Given the description of an element on the screen output the (x, y) to click on. 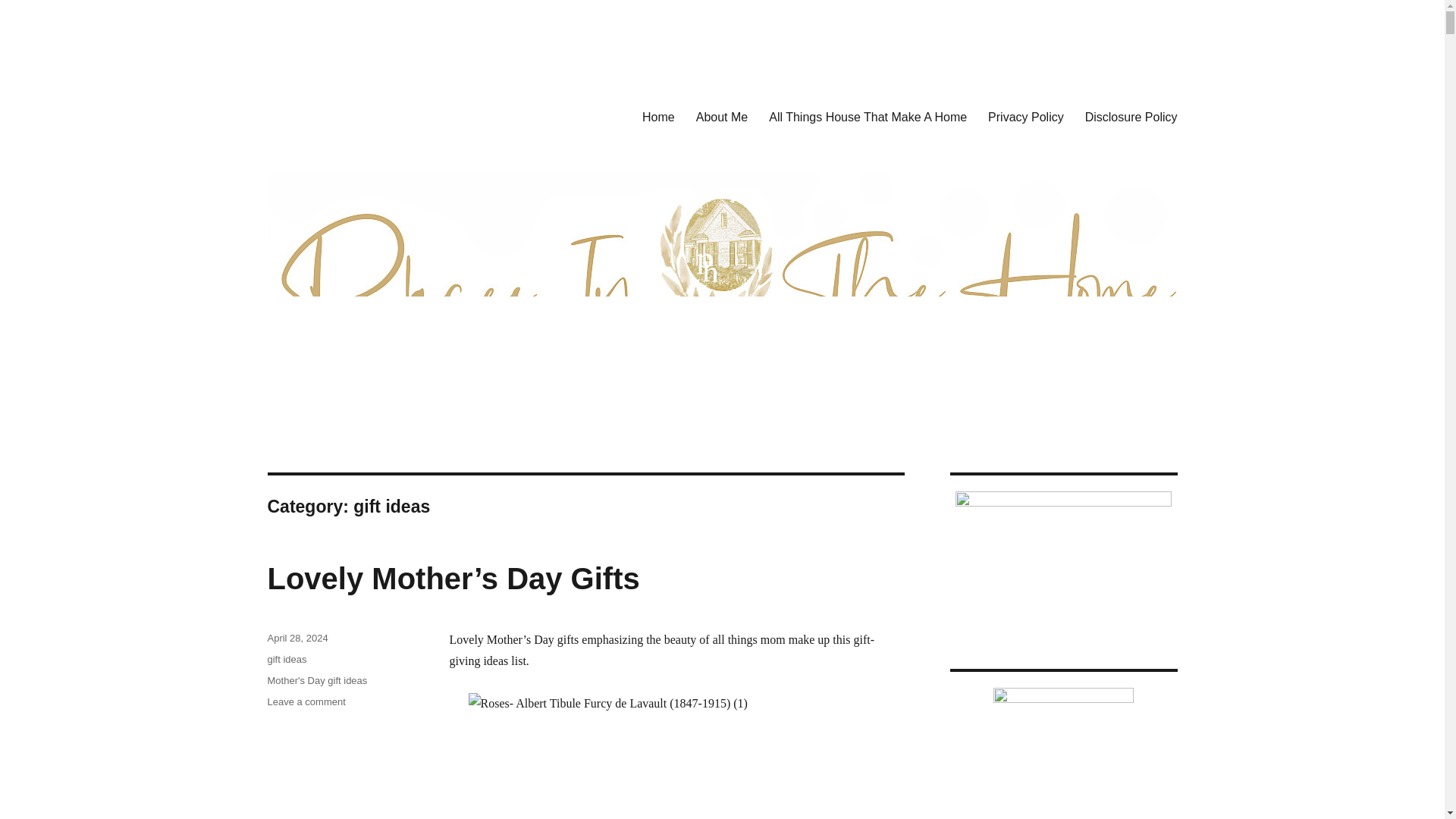
All Things House That Make A Home (867, 116)
About Me (721, 116)
Places In The Home (366, 114)
Privacy Policy (1025, 116)
Disclosure Policy (1131, 116)
Home (658, 116)
